Given the description of an element on the screen output the (x, y) to click on. 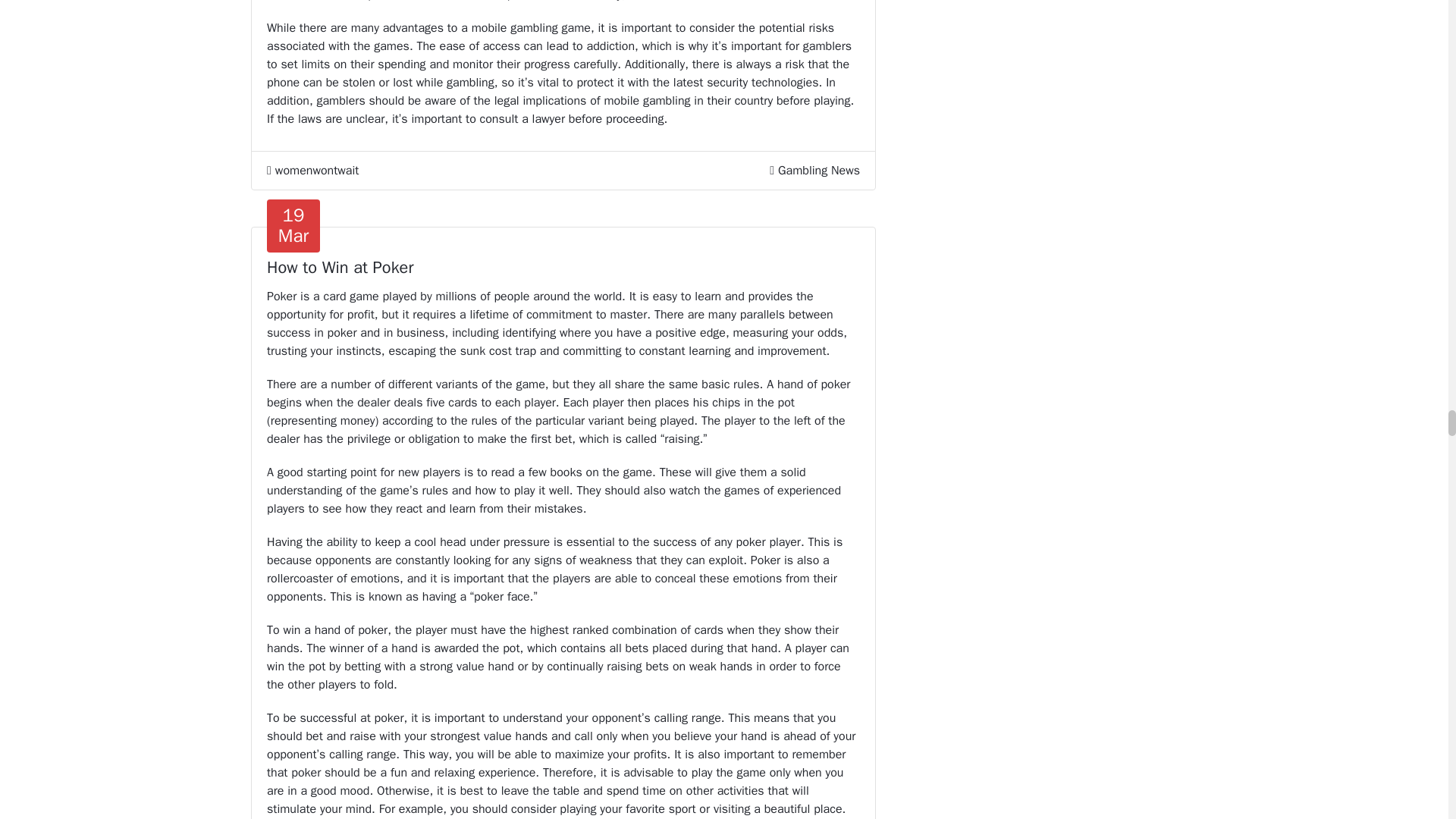
womenwontwait (312, 170)
